Given the description of an element on the screen output the (x, y) to click on. 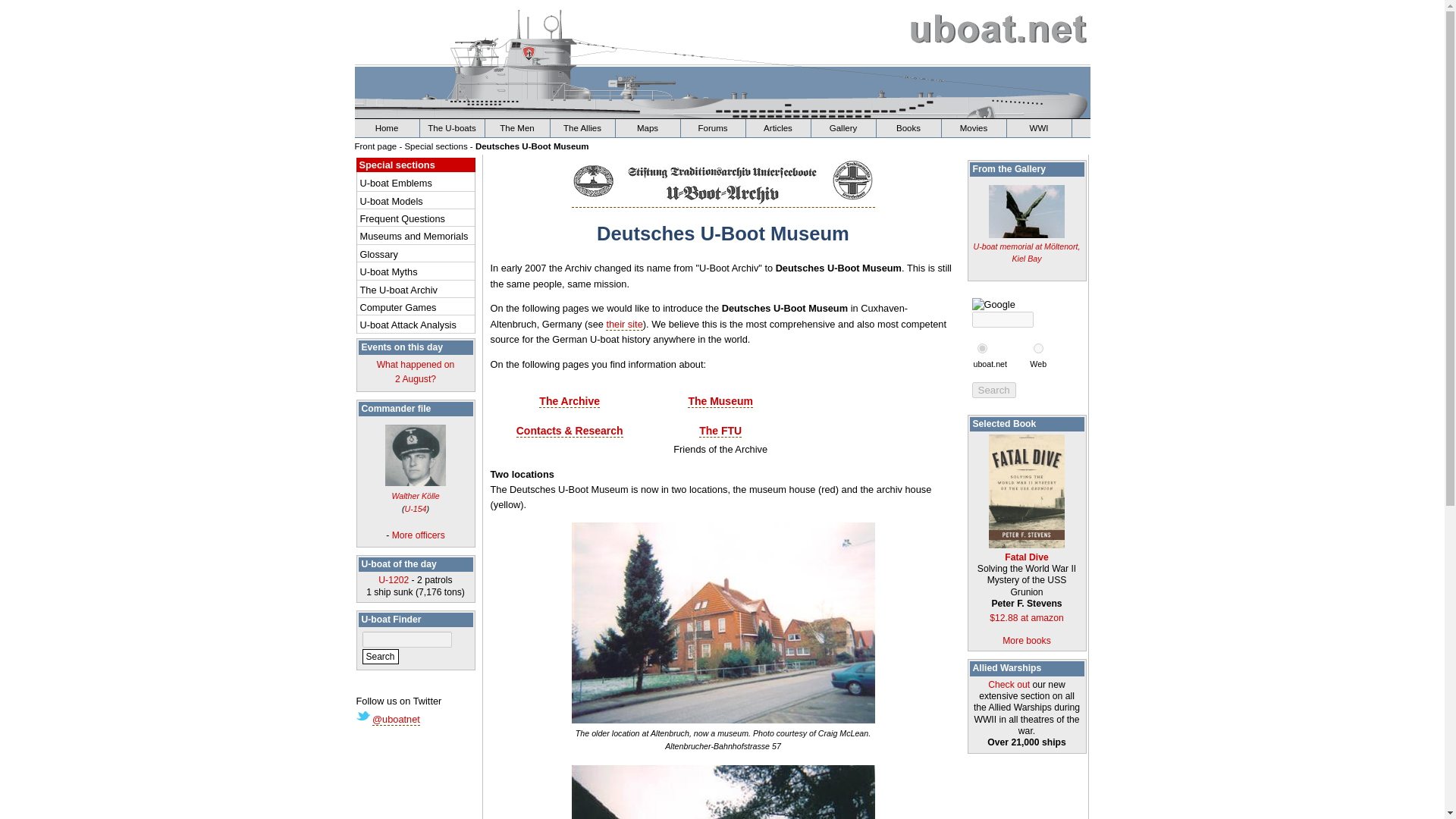
Search (994, 390)
U-boat Myths (416, 271)
Search (994, 390)
Over 2200 books (909, 127)
Movies (974, 127)
World War One (1039, 127)
Computer Games (415, 371)
The Allies (416, 307)
Maps (582, 127)
The Men (648, 127)
Articles (517, 127)
Maps (777, 127)
Articles (648, 127)
Home (777, 127)
